Given the description of an element on the screen output the (x, y) to click on. 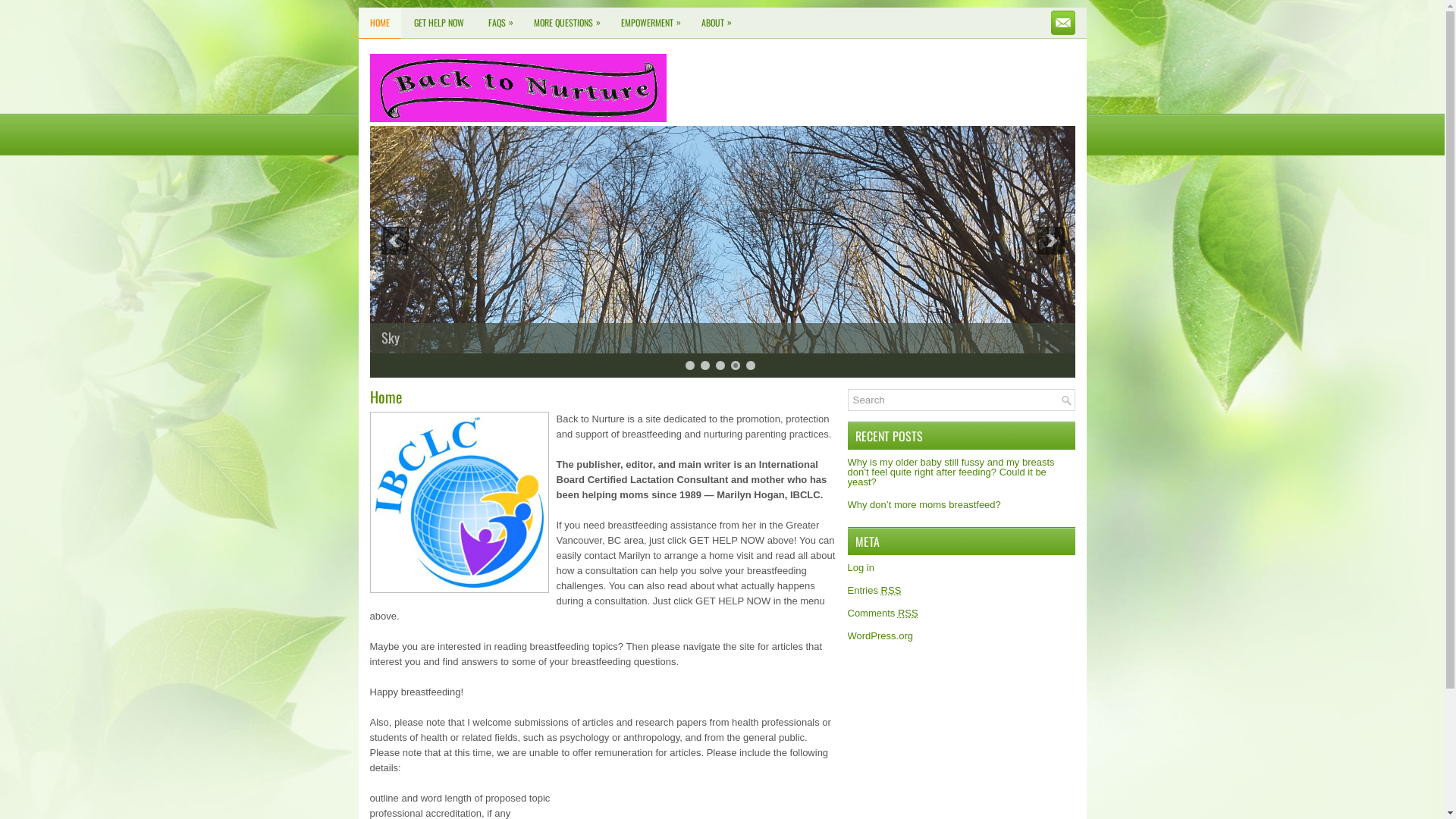
Log in Element type: text (860, 567)
Latched Element type: hover (722, 351)
Latched Element type: text (399, 337)
GET HELP NOW Element type: text (437, 22)
1 Element type: text (689, 365)
4 Element type: text (735, 365)
Sky Element type: hover (722, 349)
Type and hit enter Element type: hover (961, 400)
Comments RSS Element type: text (882, 612)
Email Element type: hover (1063, 22)
Entries RSS Element type: text (874, 590)
5 Element type: text (750, 365)
WordPress.org Element type: text (880, 635)
HOME Element type: text (378, 22)
Backtonurture Element type: hover (518, 87)
3 Element type: text (719, 365)
2 Element type: text (704, 365)
